Given the description of an element on the screen output the (x, y) to click on. 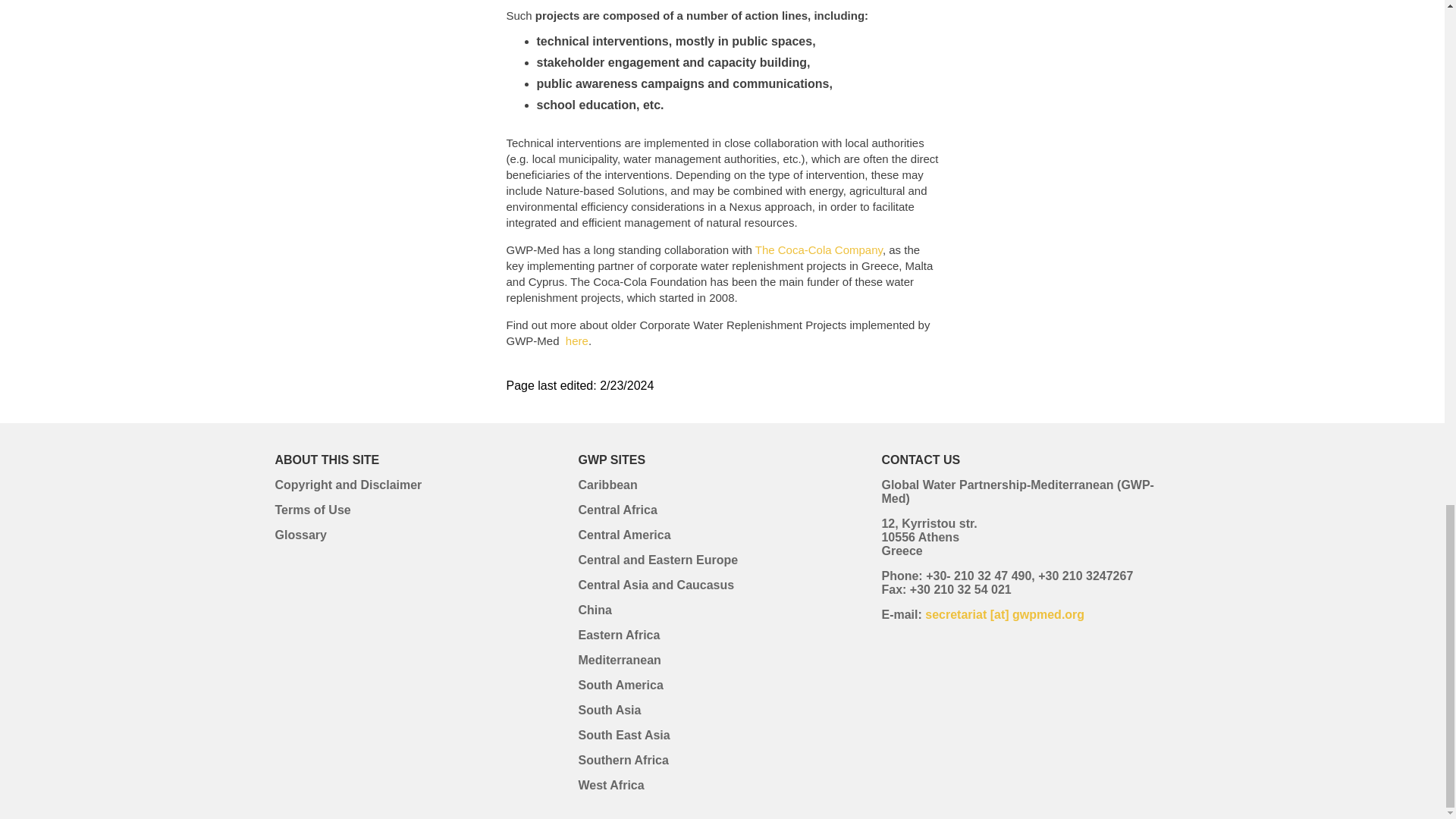
CACENA (655, 584)
NCWR (575, 340)
